Given the description of an element on the screen output the (x, y) to click on. 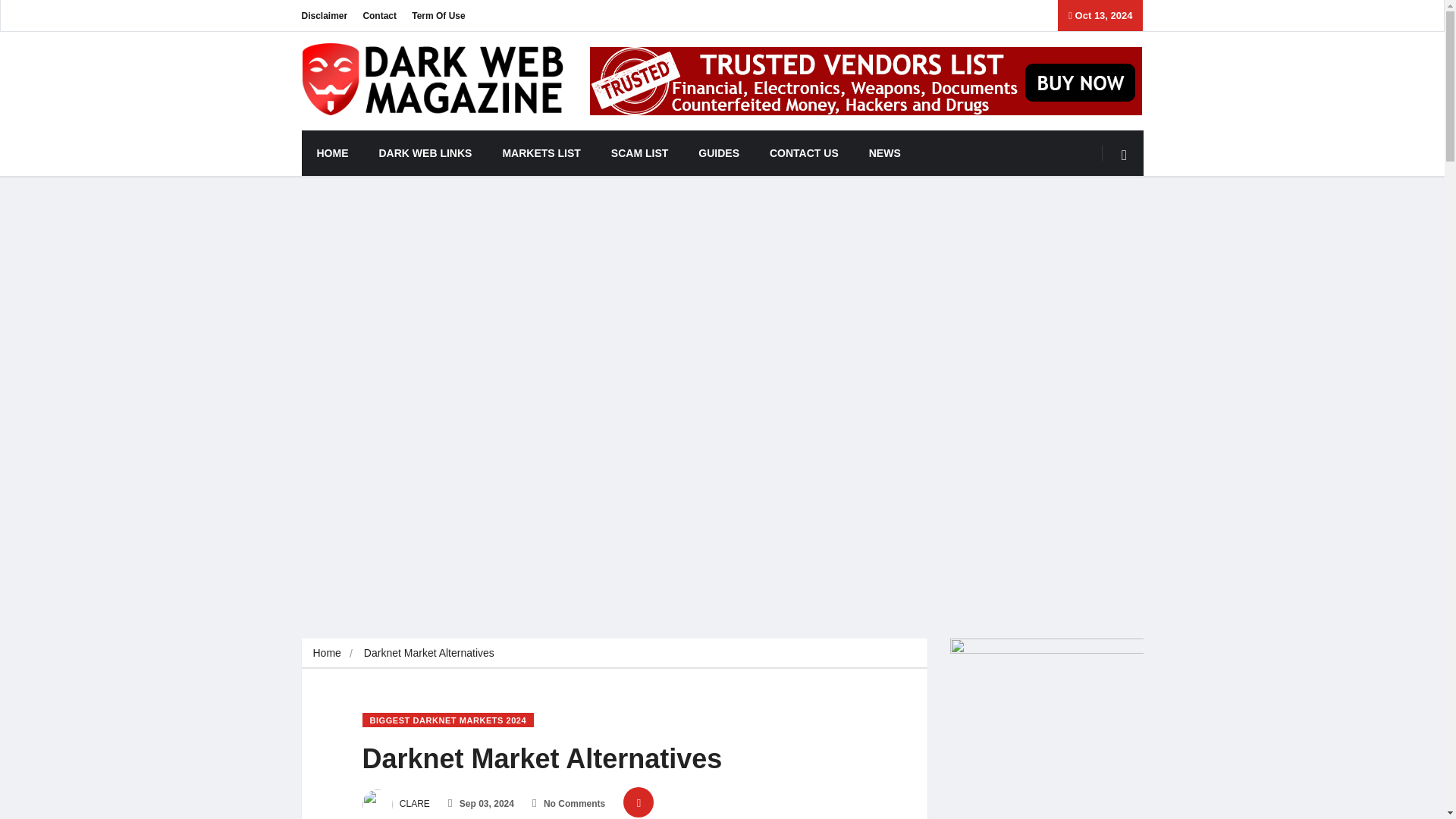
SCAM LIST (638, 153)
CLARE (395, 803)
NEWS (884, 153)
MARKETS LIST (540, 153)
Term Of Use (438, 15)
BIGGEST DARKNET MARKETS 2024 (448, 719)
Home (326, 653)
HOME (332, 153)
DARK WEB LINKS (425, 153)
CONTACT US (803, 153)
Contact (379, 15)
GUIDES (718, 153)
Disclaimer (324, 15)
